Given the description of an element on the screen output the (x, y) to click on. 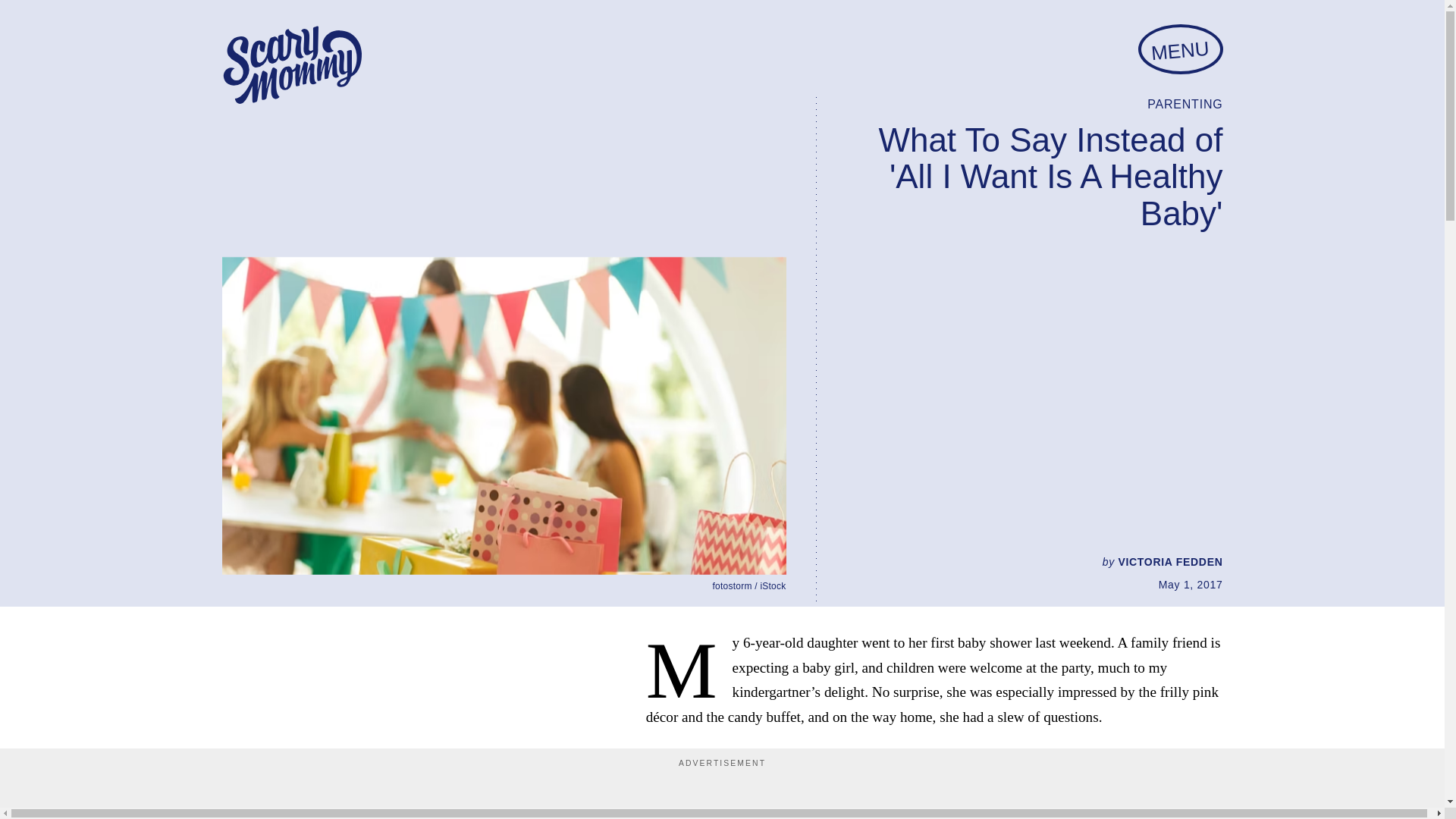
Scary Mommy (291, 64)
